Given the description of an element on the screen output the (x, y) to click on. 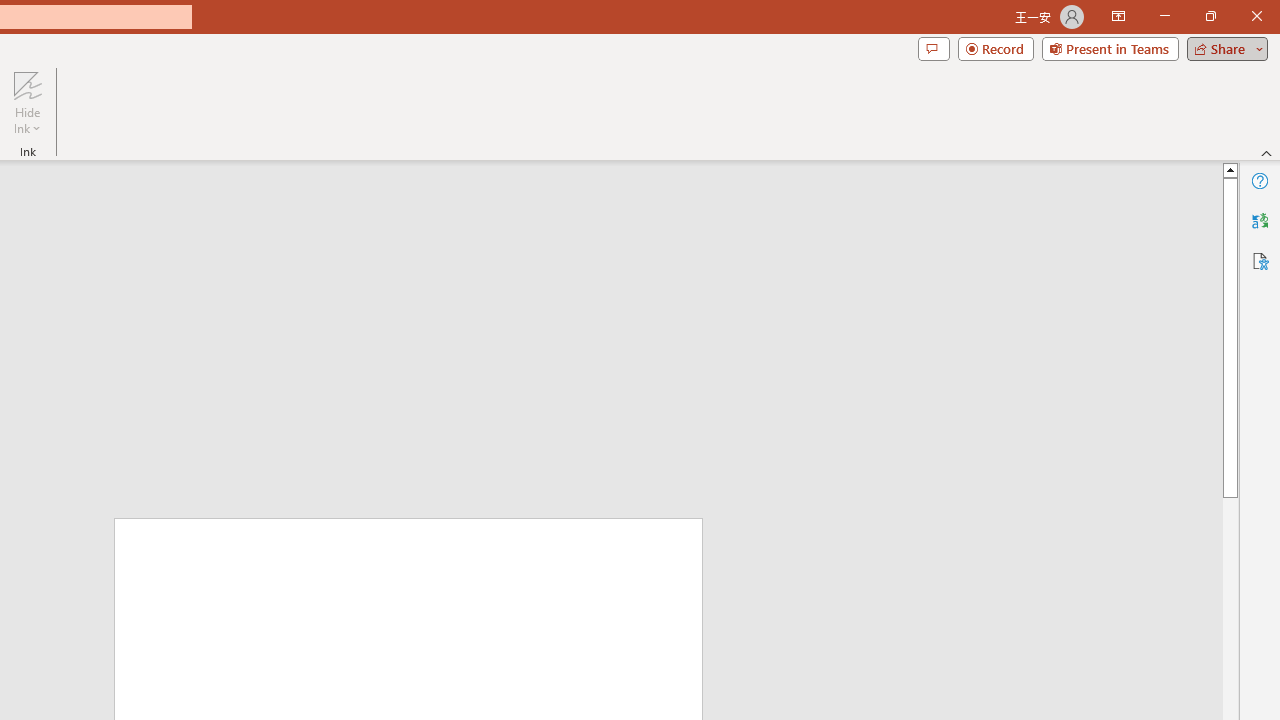
Hide Ink (27, 84)
Translator (1260, 220)
